Given the description of an element on the screen output the (x, y) to click on. 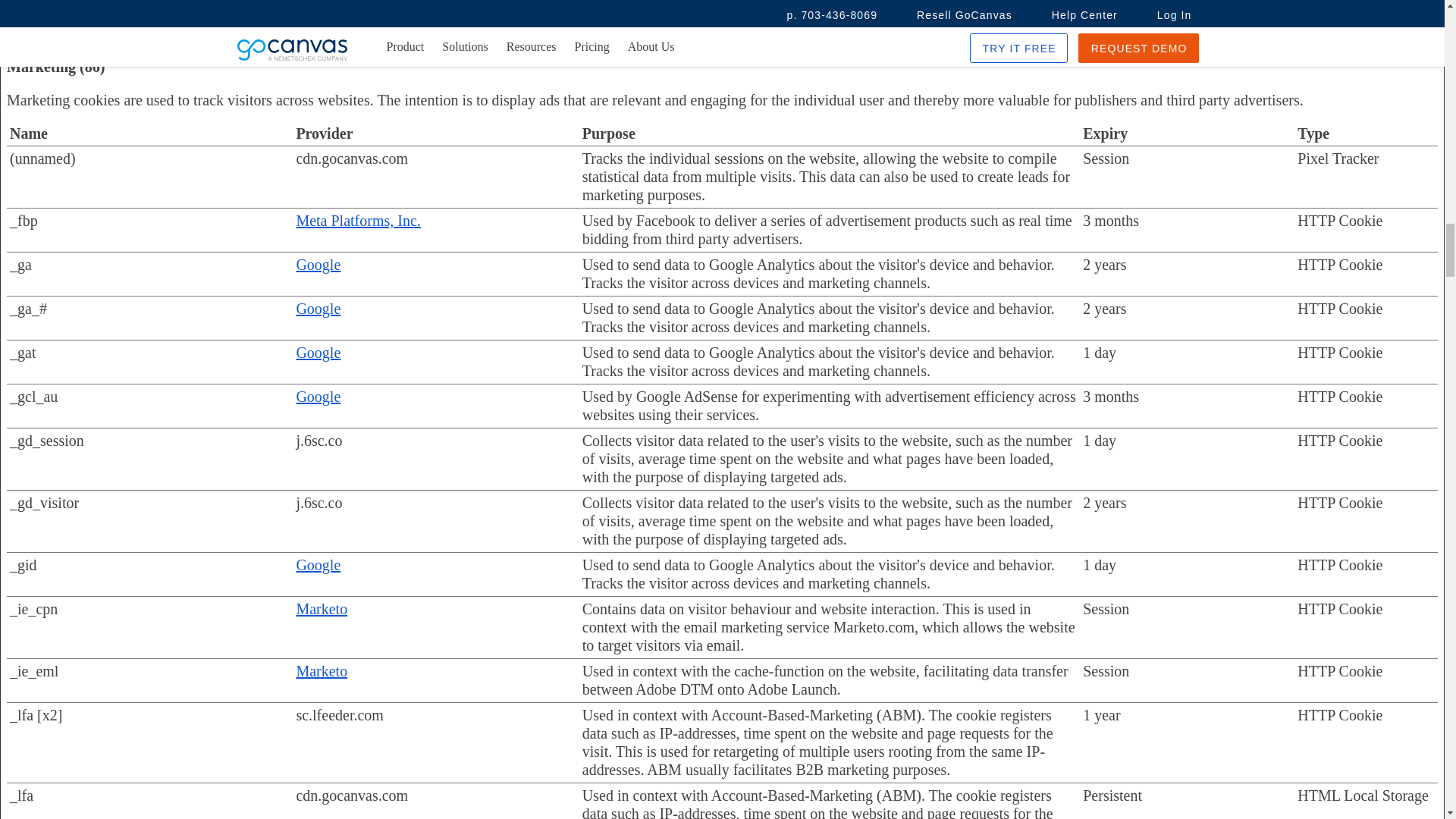
Google (317, 352)
Google (317, 264)
Google (317, 308)
Meta Platforms, Inc. (357, 220)
